Given the description of an element on the screen output the (x, y) to click on. 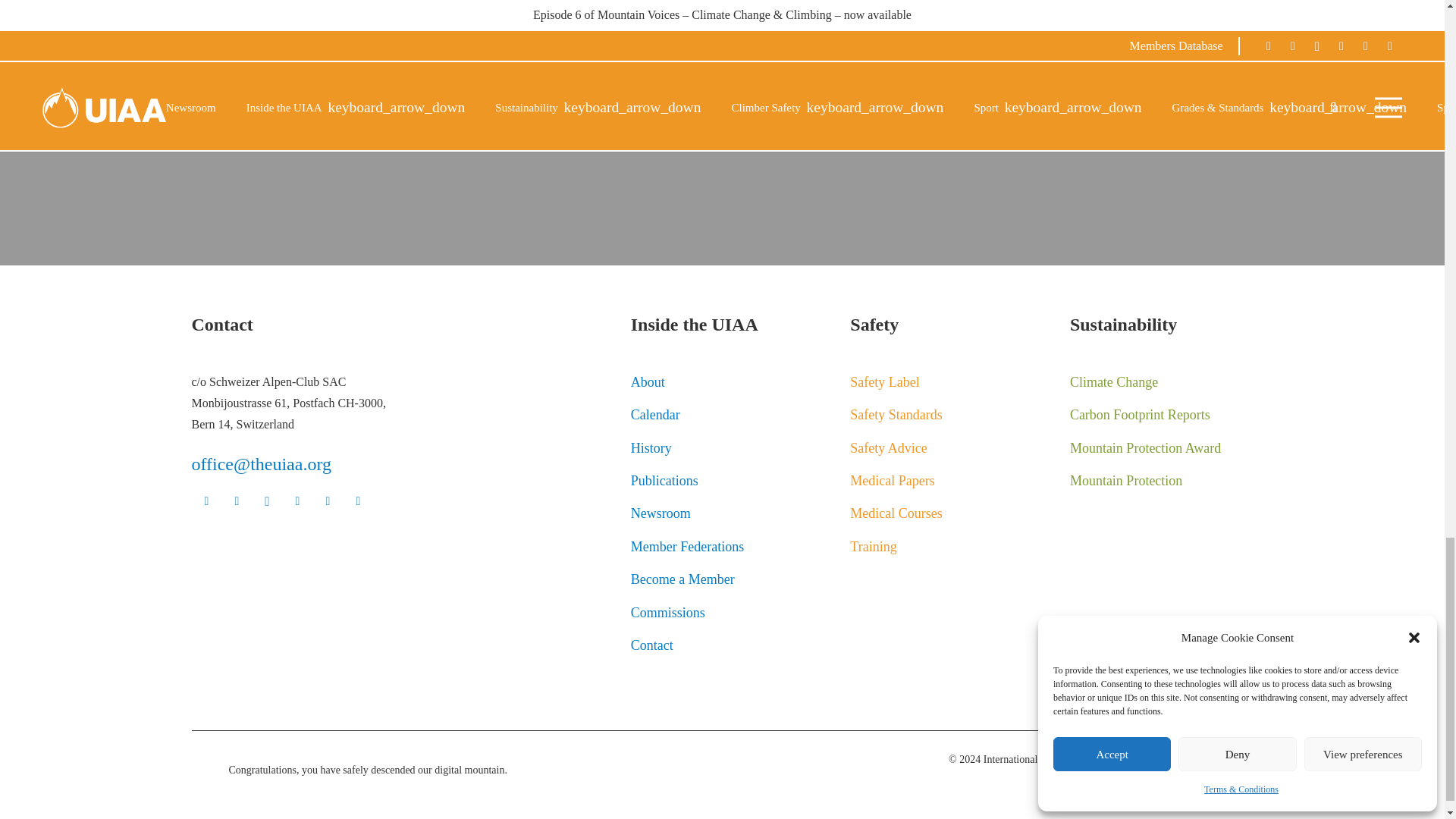
YouTube (297, 501)
Facebook (205, 501)
Twitter (236, 501)
LinkedIn (357, 501)
Flickr (327, 501)
Instagram (266, 501)
